Given the description of an element on the screen output the (x, y) to click on. 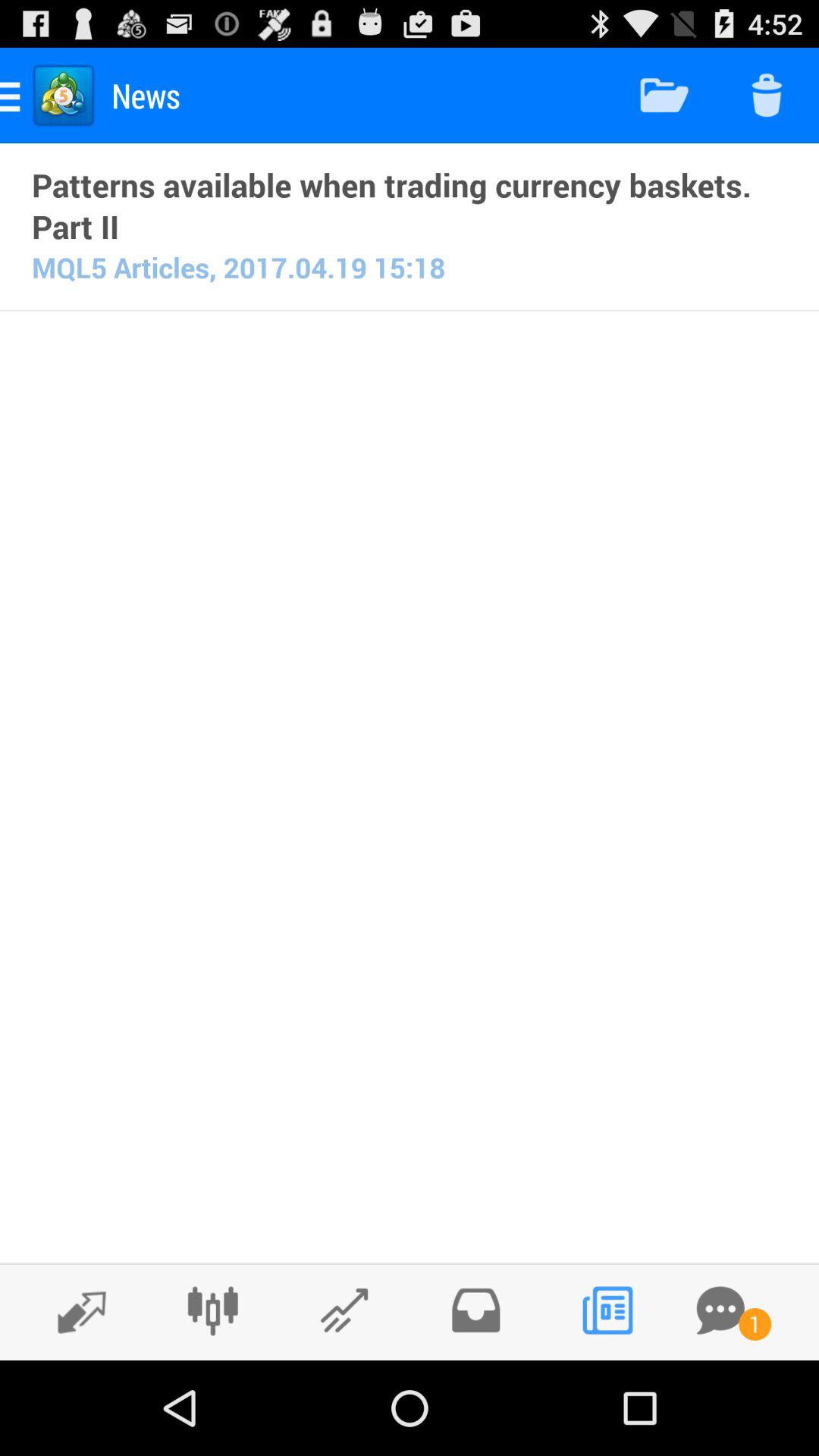
show news (606, 1310)
